Given the description of an element on the screen output the (x, y) to click on. 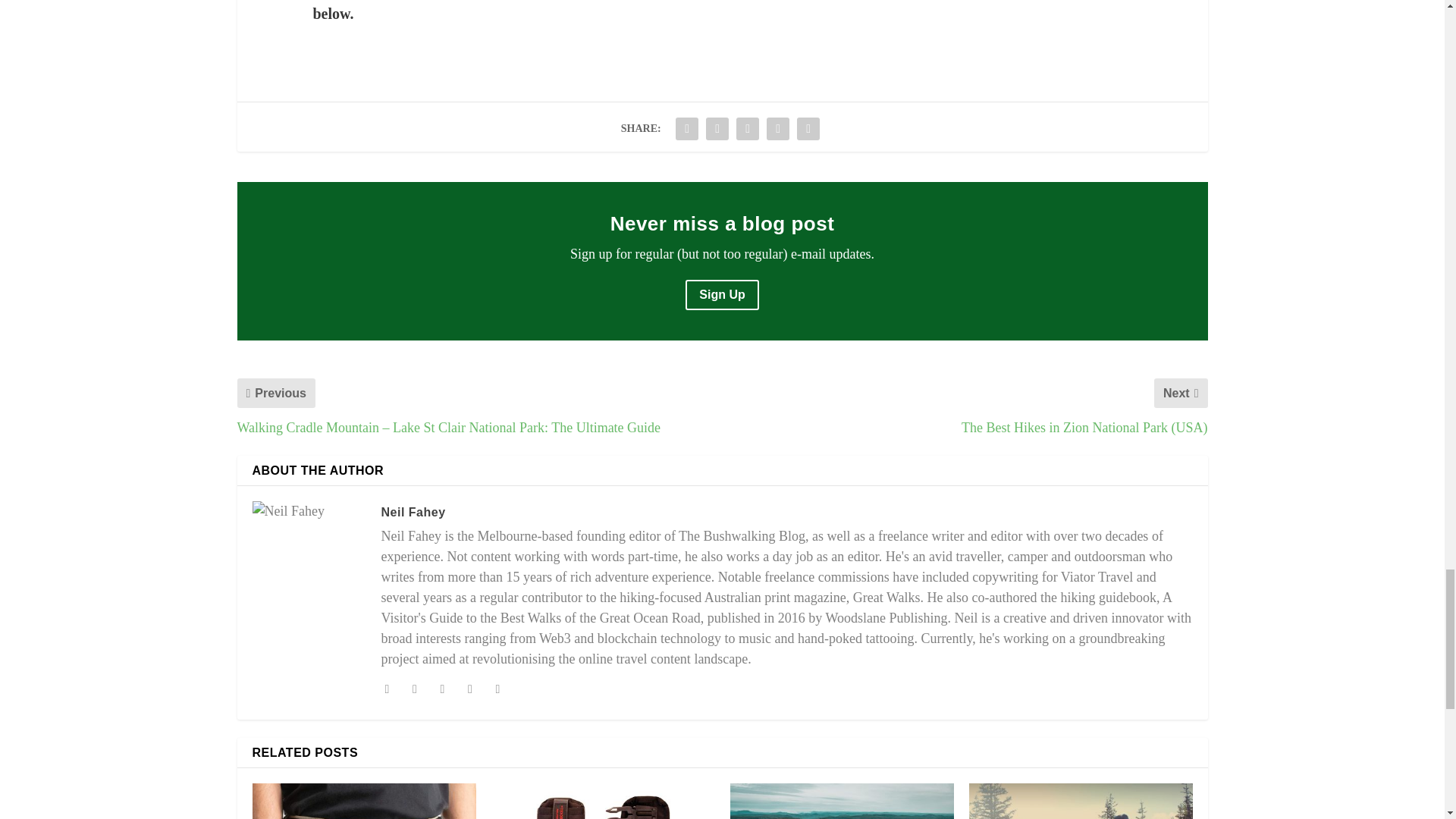
View all posts by Neil Fahey (412, 512)
Review: Arcade Adventure Belt (363, 800)
